Given the description of an element on the screen output the (x, y) to click on. 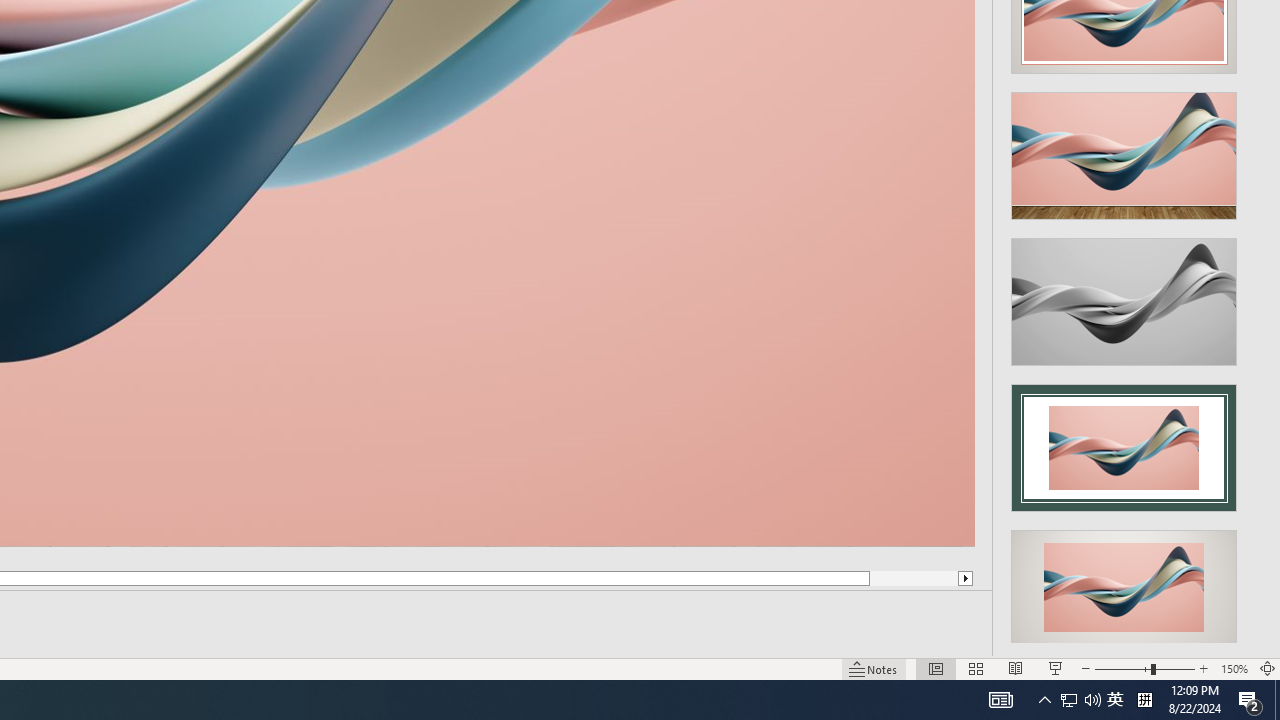
Zoom 150% (1234, 668)
